Given the description of an element on the screen output the (x, y) to click on. 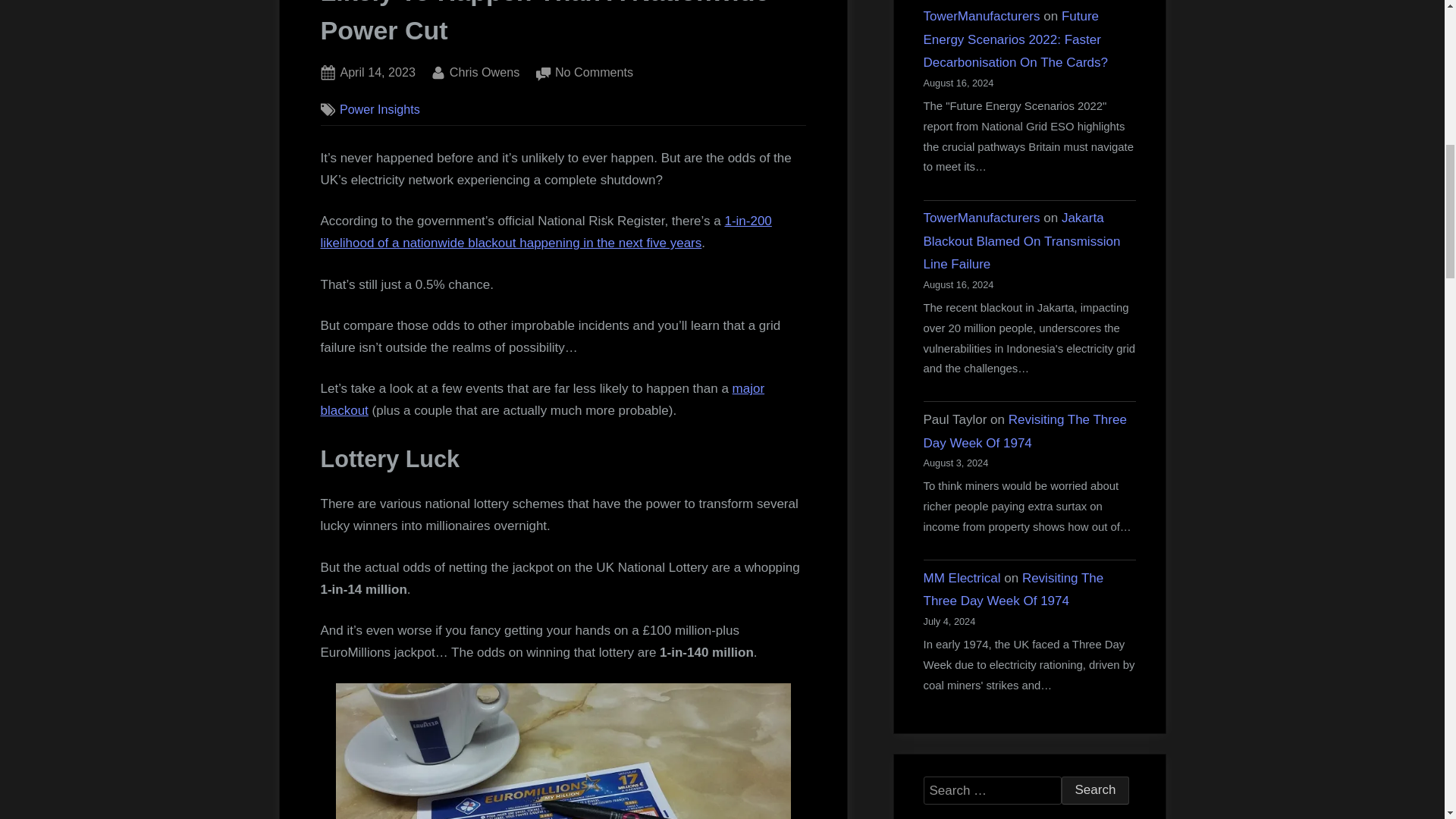
Search (1095, 790)
major blackout (376, 72)
Search (542, 399)
Power Insights (1095, 790)
